Given the description of an element on the screen output the (x, y) to click on. 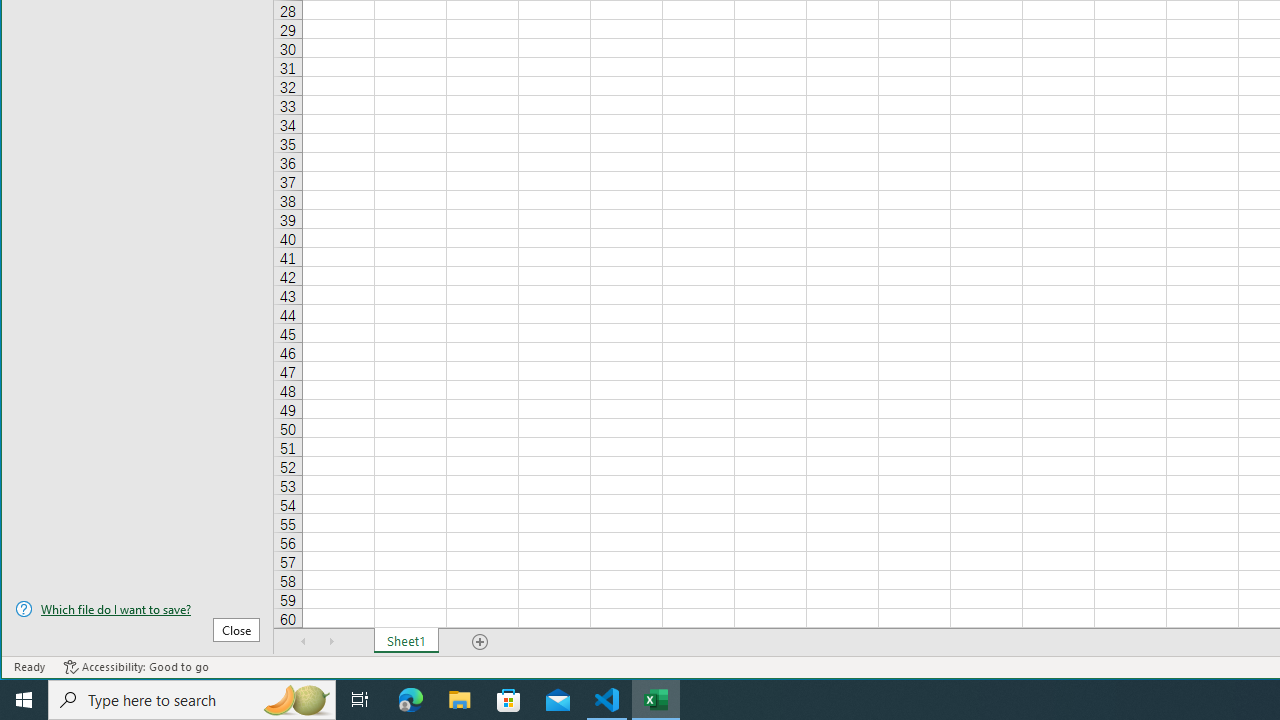
Excel - 1 running window (656, 699)
